Given the description of an element on the screen output the (x, y) to click on. 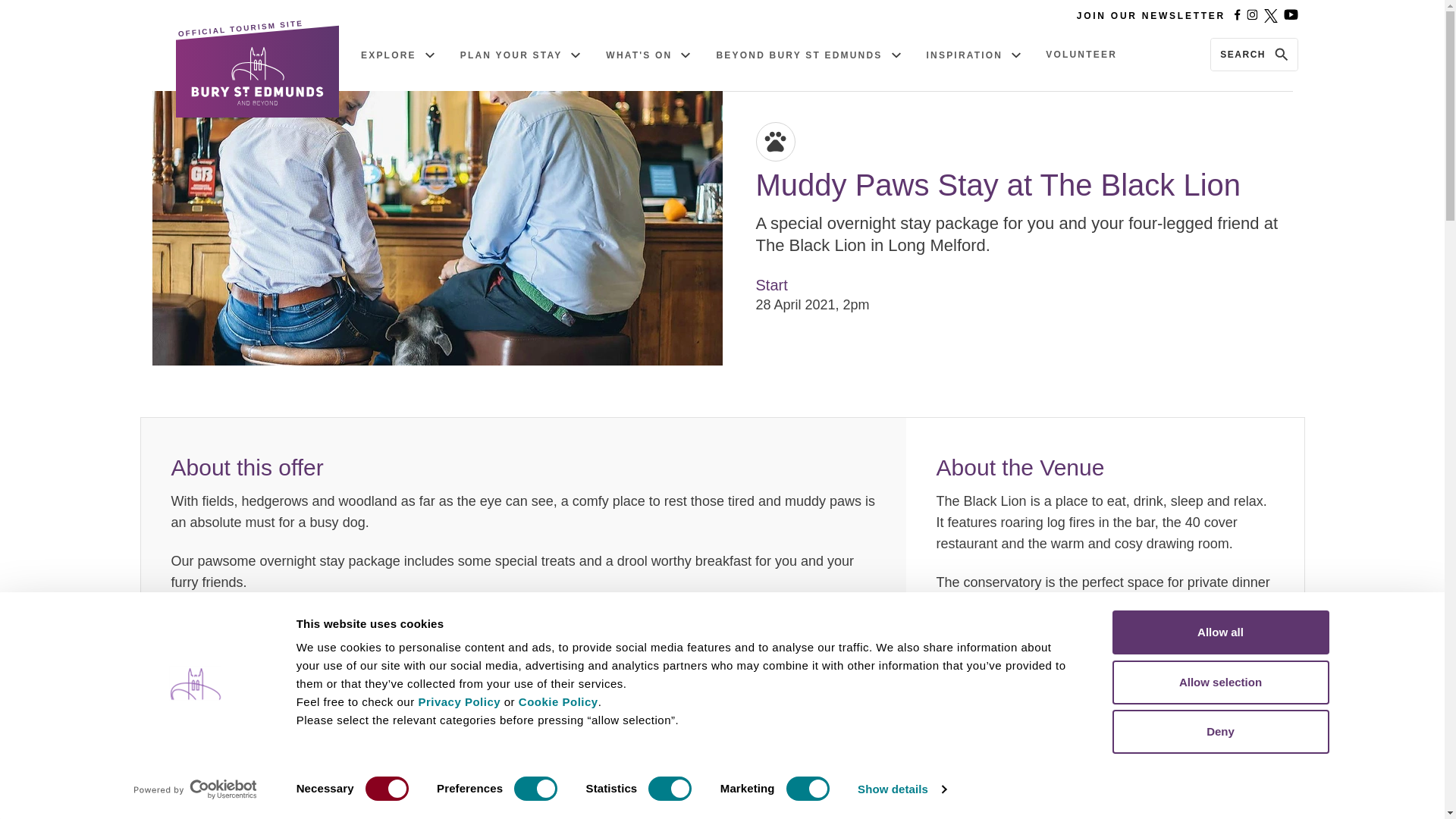
Bury St Edmunds Youtube (1291, 15)
Cookie Policy (558, 701)
Bury St Edmunds X (1270, 15)
Privacy Policy (458, 701)
Show details (900, 789)
